Given the description of an element on the screen output the (x, y) to click on. 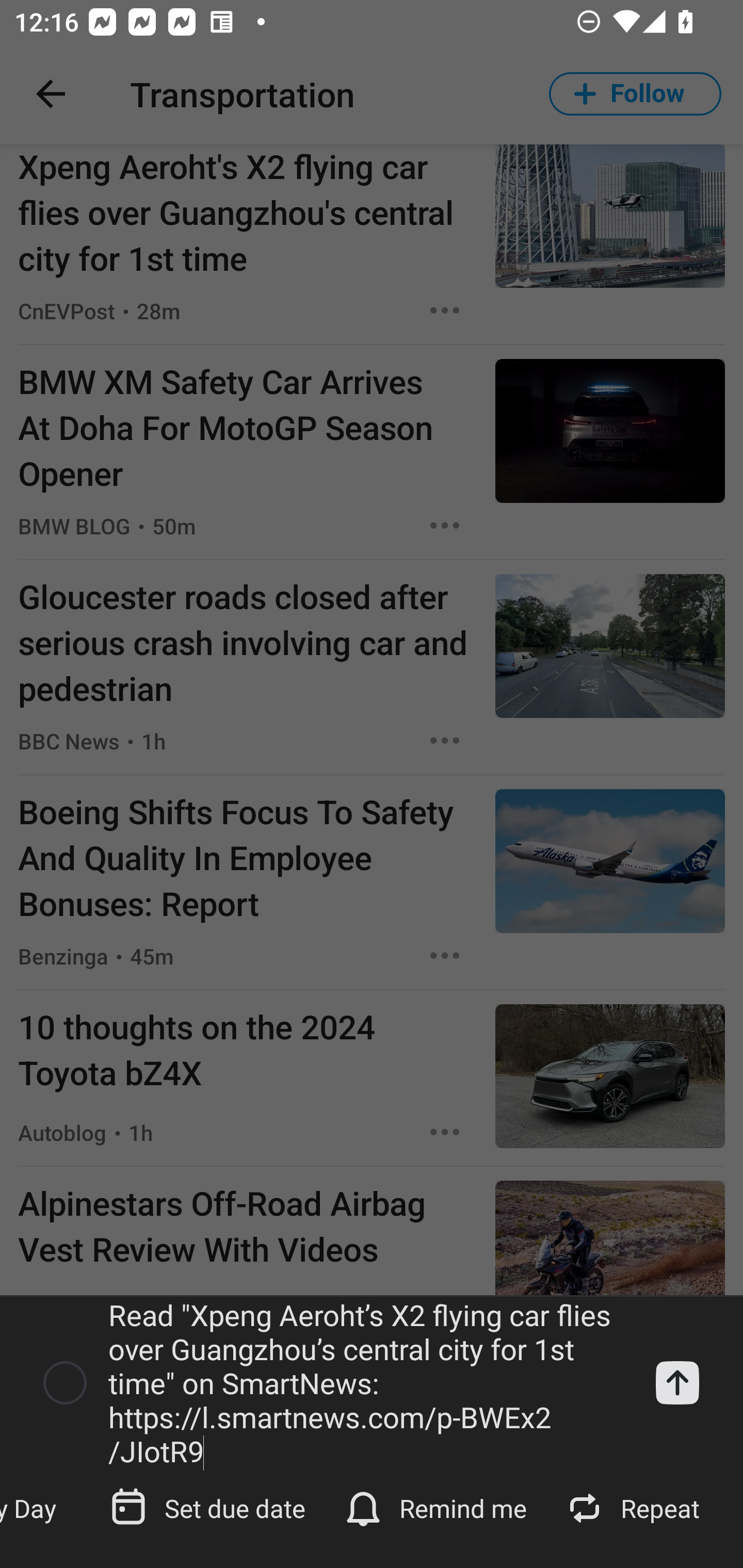
Add a task (676, 1382)
Set due date (209, 1507)
Remind me (437, 1507)
Repeat (634, 1507)
